Given the description of an element on the screen output the (x, y) to click on. 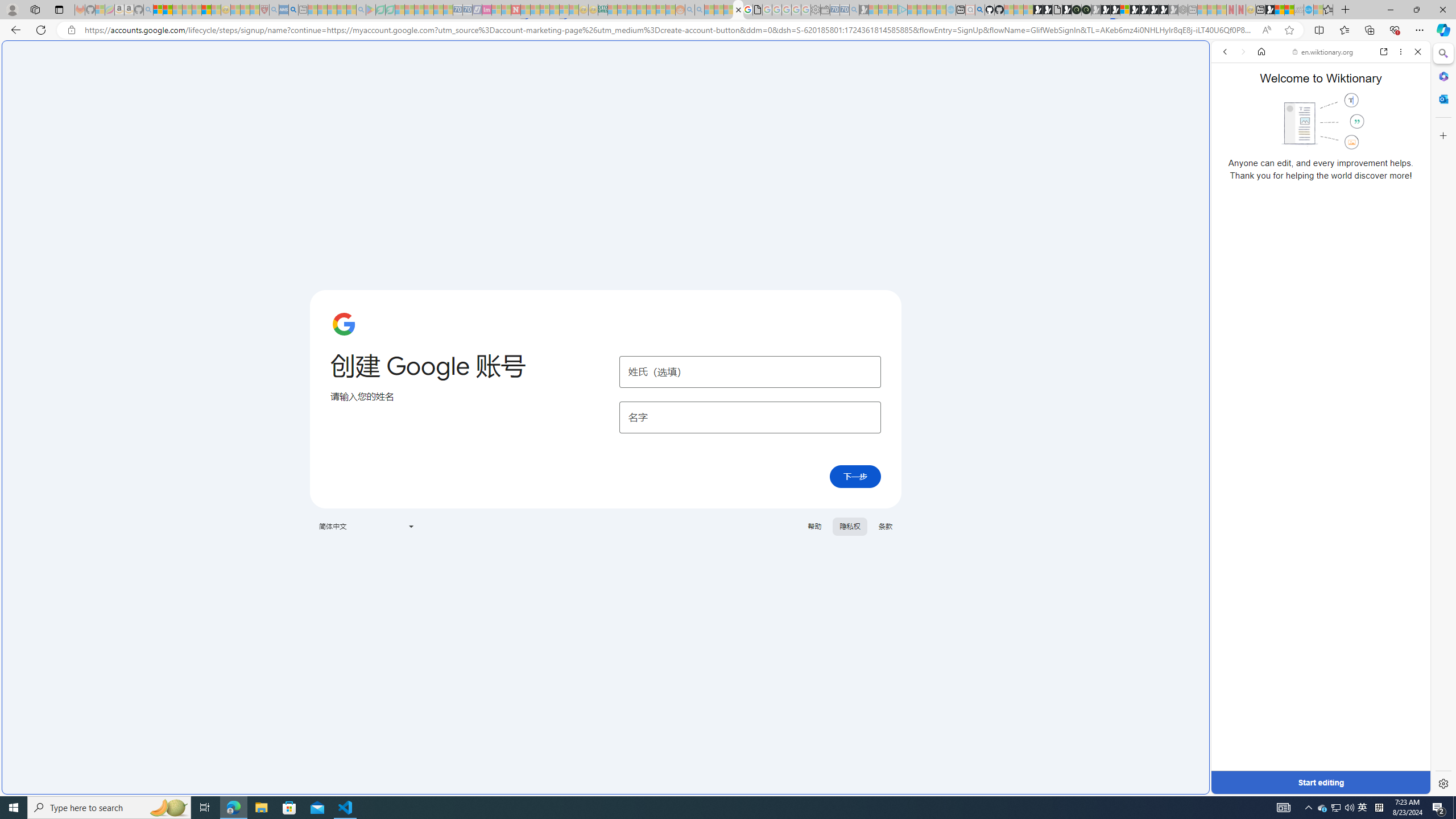
Play Zoo Boom in your browser | Games from Microsoft Start (1047, 9)
Search or enter web address (922, 108)
